Given the description of an element on the screen output the (x, y) to click on. 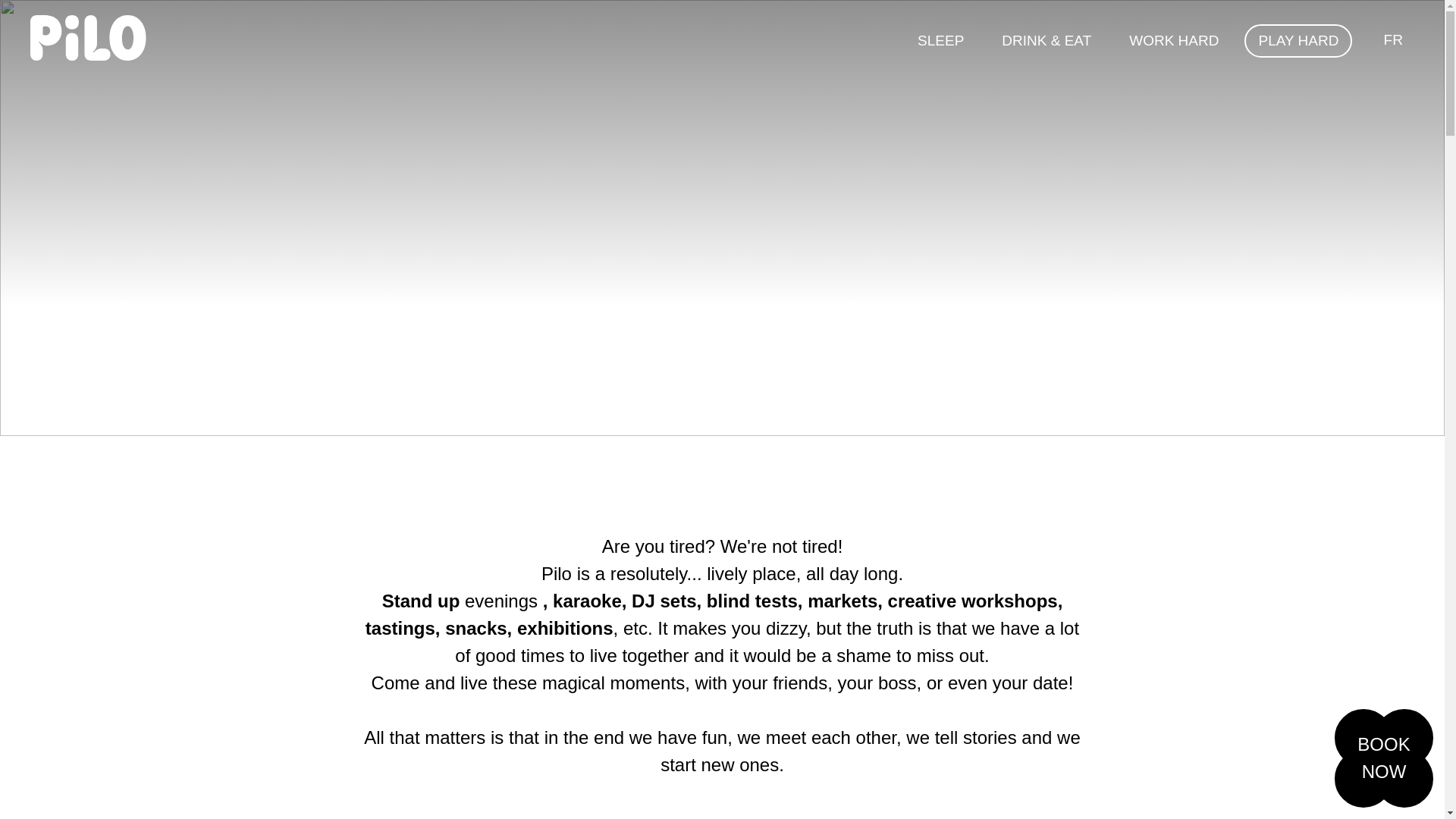
WORK HARD (1173, 40)
SLEEP (940, 40)
PLAY HARD (1383, 758)
